Given the description of an element on the screen output the (x, y) to click on. 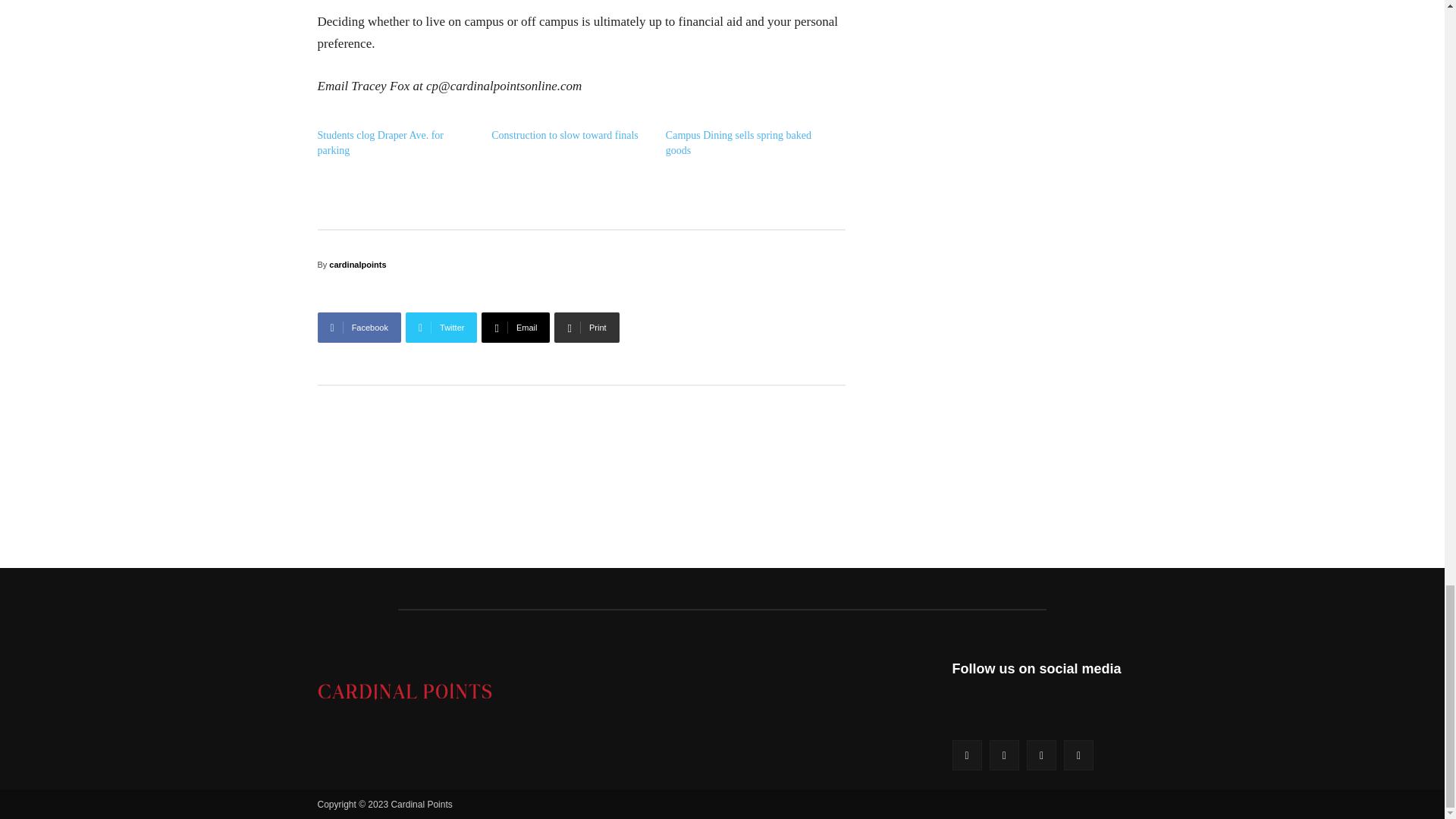
Students clog Draper Ave. for parking (380, 142)
Facebook (358, 327)
Twitter (441, 327)
Construction to slow toward finals (565, 134)
Campus Dining sells spring baked goods (737, 142)
